Given the description of an element on the screen output the (x, y) to click on. 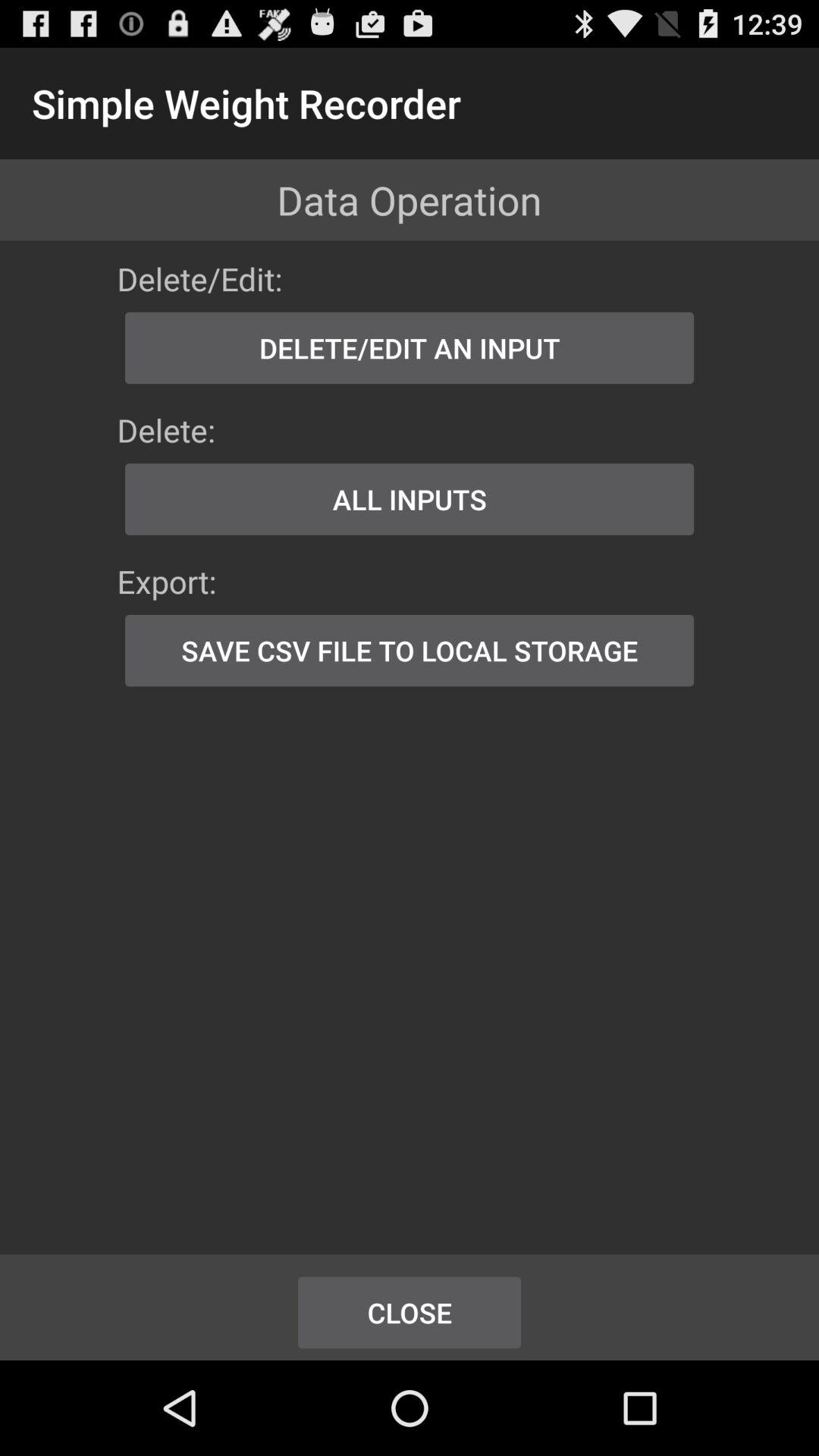
select icon above the export: app (409, 499)
